Given the description of an element on the screen output the (x, y) to click on. 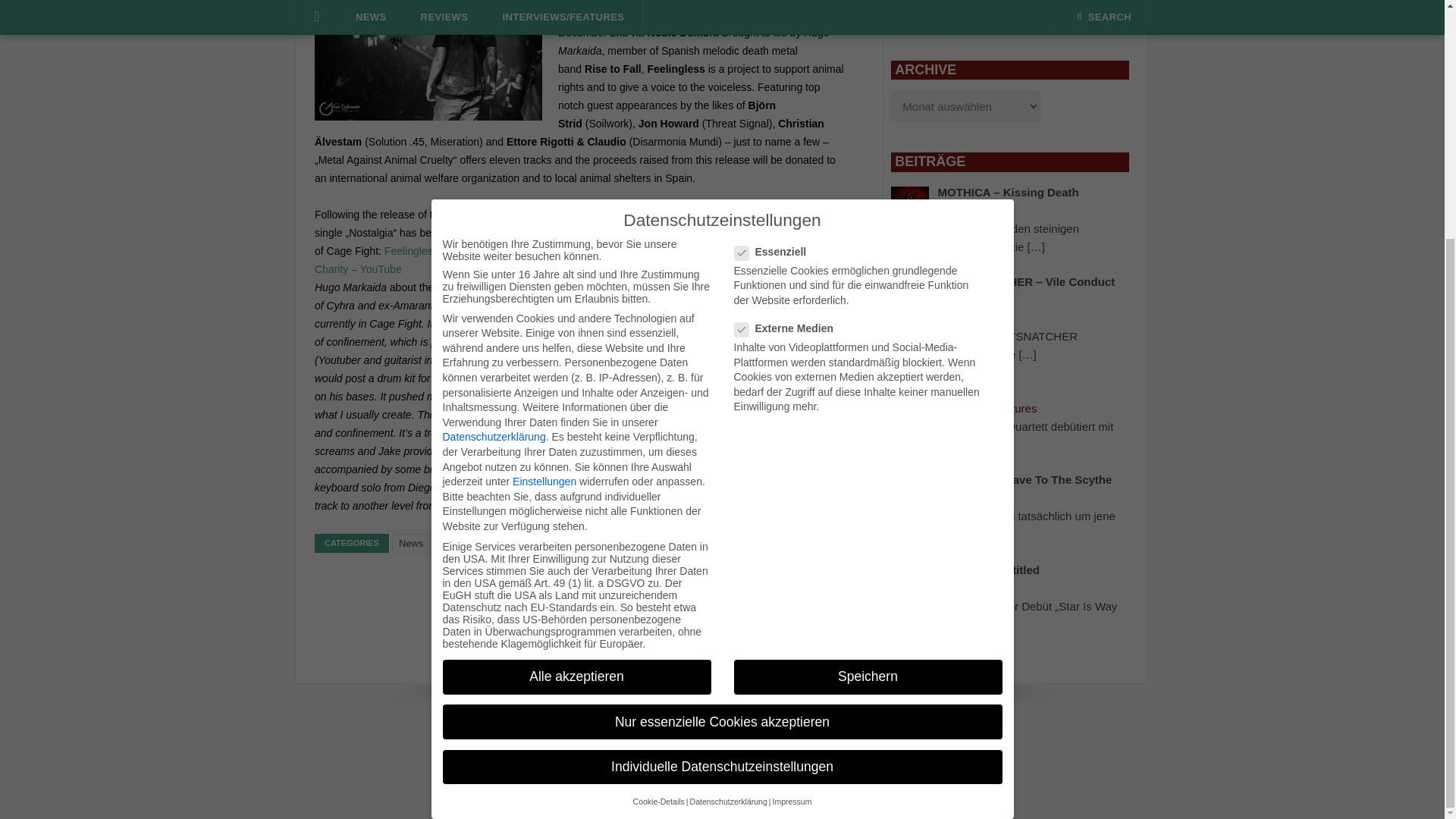
Reviews (1014, 18)
Feelingless (616, 214)
News (410, 543)
Individuelle Datenschutzeinstellungen (722, 439)
Impressum (674, 740)
Cookie-Details (658, 473)
Einstellungen (544, 153)
SUNFALL (963, 390)
Alle akzeptieren (576, 349)
Speichern (868, 349)
